Given the description of an element on the screen output the (x, y) to click on. 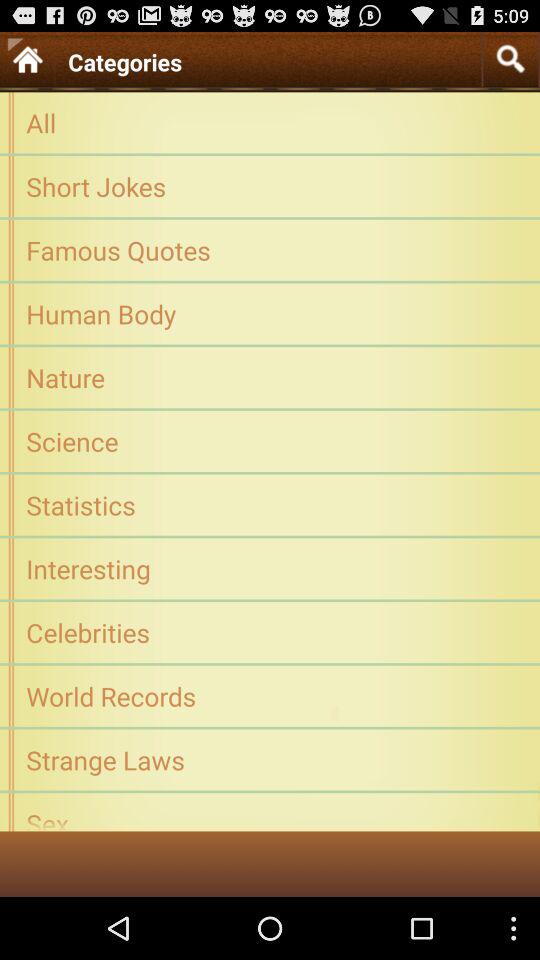
open the app above the celebrities app (270, 568)
